Given the description of an element on the screen output the (x, y) to click on. 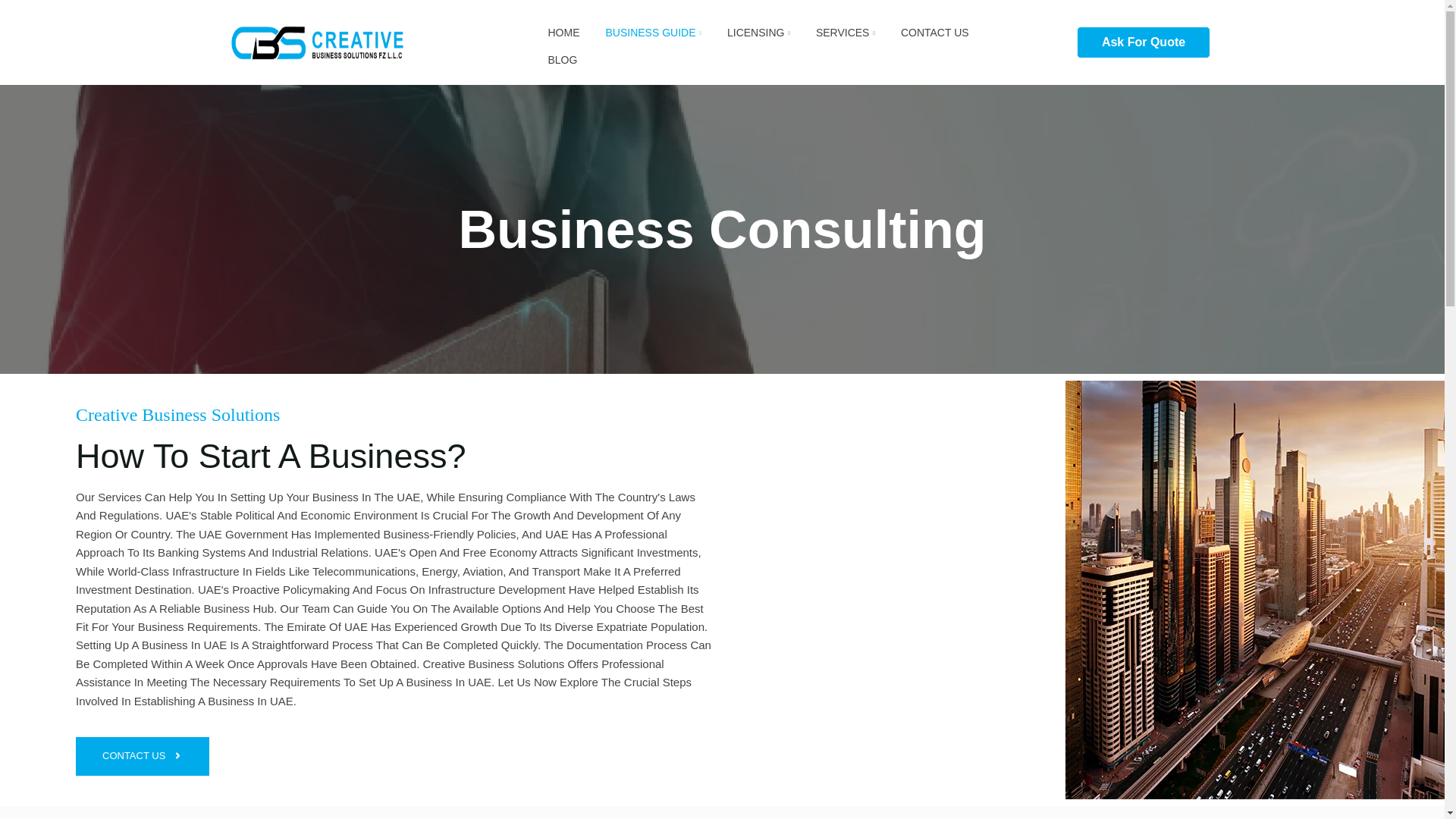
Ask For Quote (1143, 42)
HOME (551, 28)
SERVICES (834, 28)
CONTACT US (923, 28)
LICENSING (747, 28)
BLOG (550, 55)
BUSINESS GUIDE (641, 28)
